Given the description of an element on the screen output the (x, y) to click on. 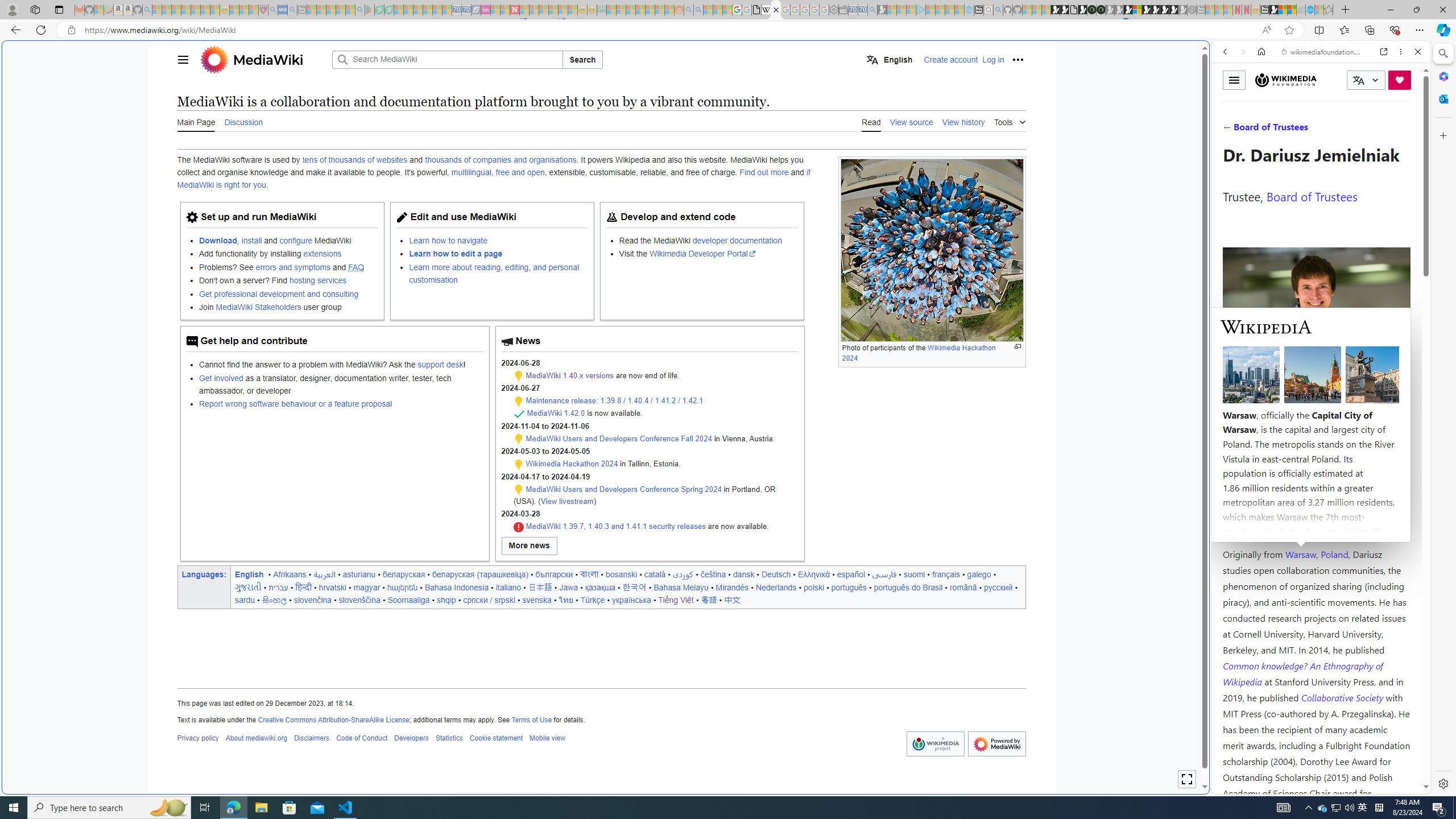
Bahasa Indonesia (456, 587)
MediaWiki Users and Developers Conference Fall 2024 (618, 438)
Play Cave FRVR in your browser | Games from Microsoft Start (922, 242)
Play Free Online Games | Games from Microsoft Start (1154, 9)
